Given the description of an element on the screen output the (x, y) to click on. 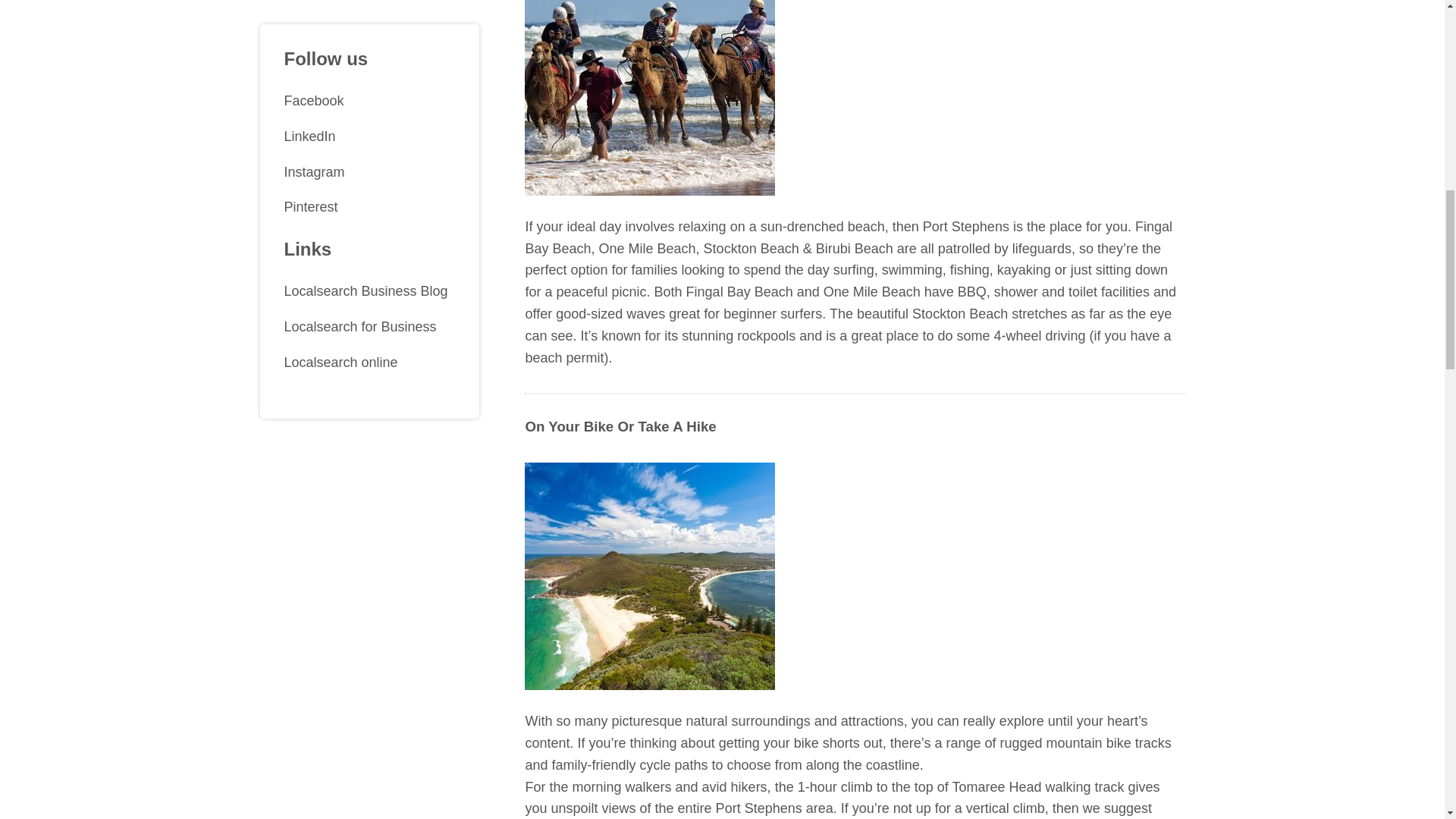
Localsearch online (368, 262)
Localsearch for Business (368, 226)
Facebook (368, 9)
Instagram (368, 72)
Localsearch Business Blog (368, 191)
Pinterest (368, 107)
LinkedIn (368, 36)
